Given the description of an element on the screen output the (x, y) to click on. 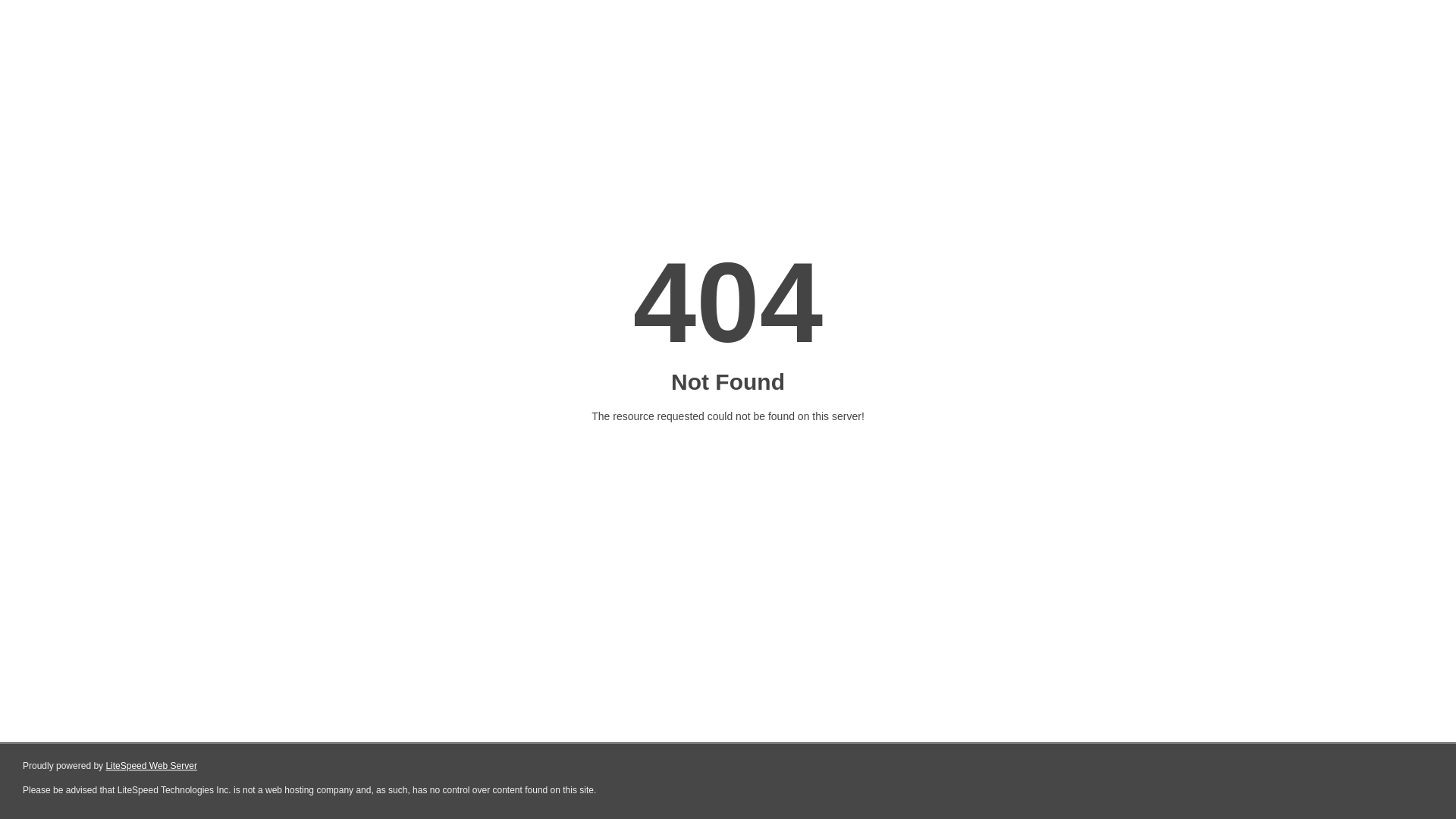
LiteSpeed Web Server Element type: text (151, 765)
